Given the description of an element on the screen output the (x, y) to click on. 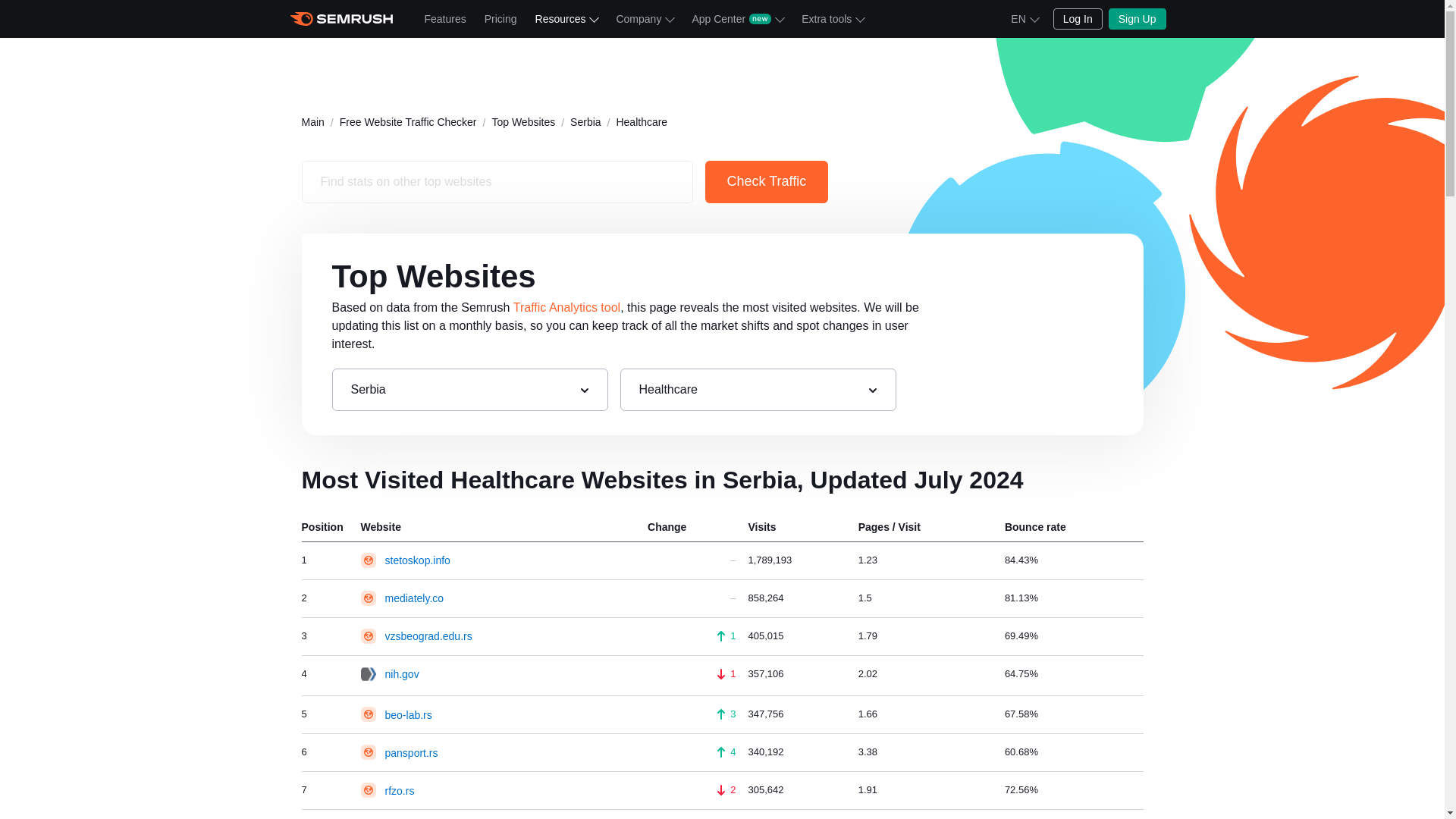
Features (445, 18)
Resources (566, 18)
Pricing (500, 18)
Extra tools (832, 18)
App Center (737, 18)
Company (644, 18)
